Given the description of an element on the screen output the (x, y) to click on. 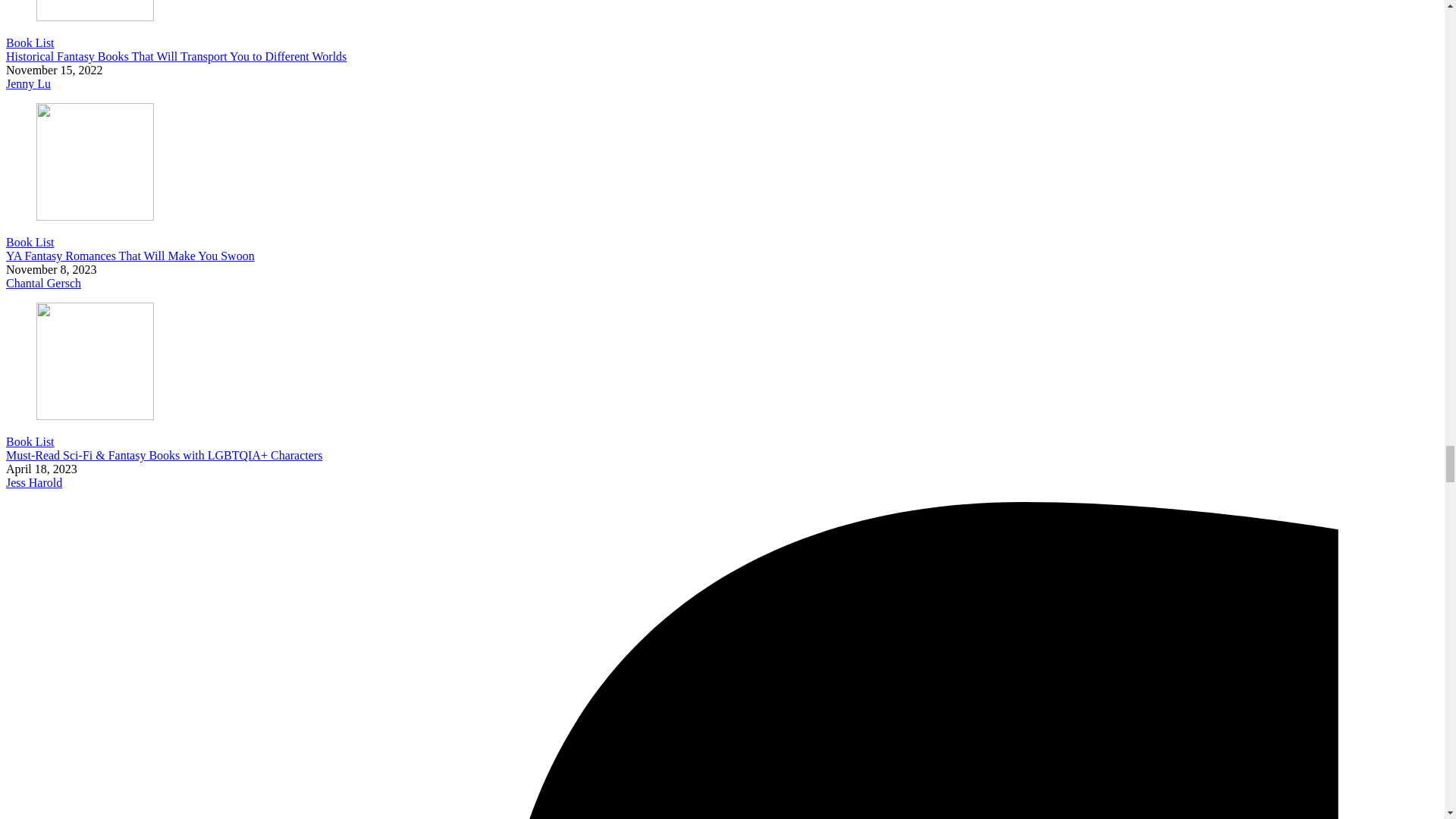
Posts by Jess Harold (33, 481)
Posts by Jenny Lu (27, 83)
Posts by Chantal Gersch (43, 282)
